Given the description of an element on the screen output the (x, y) to click on. 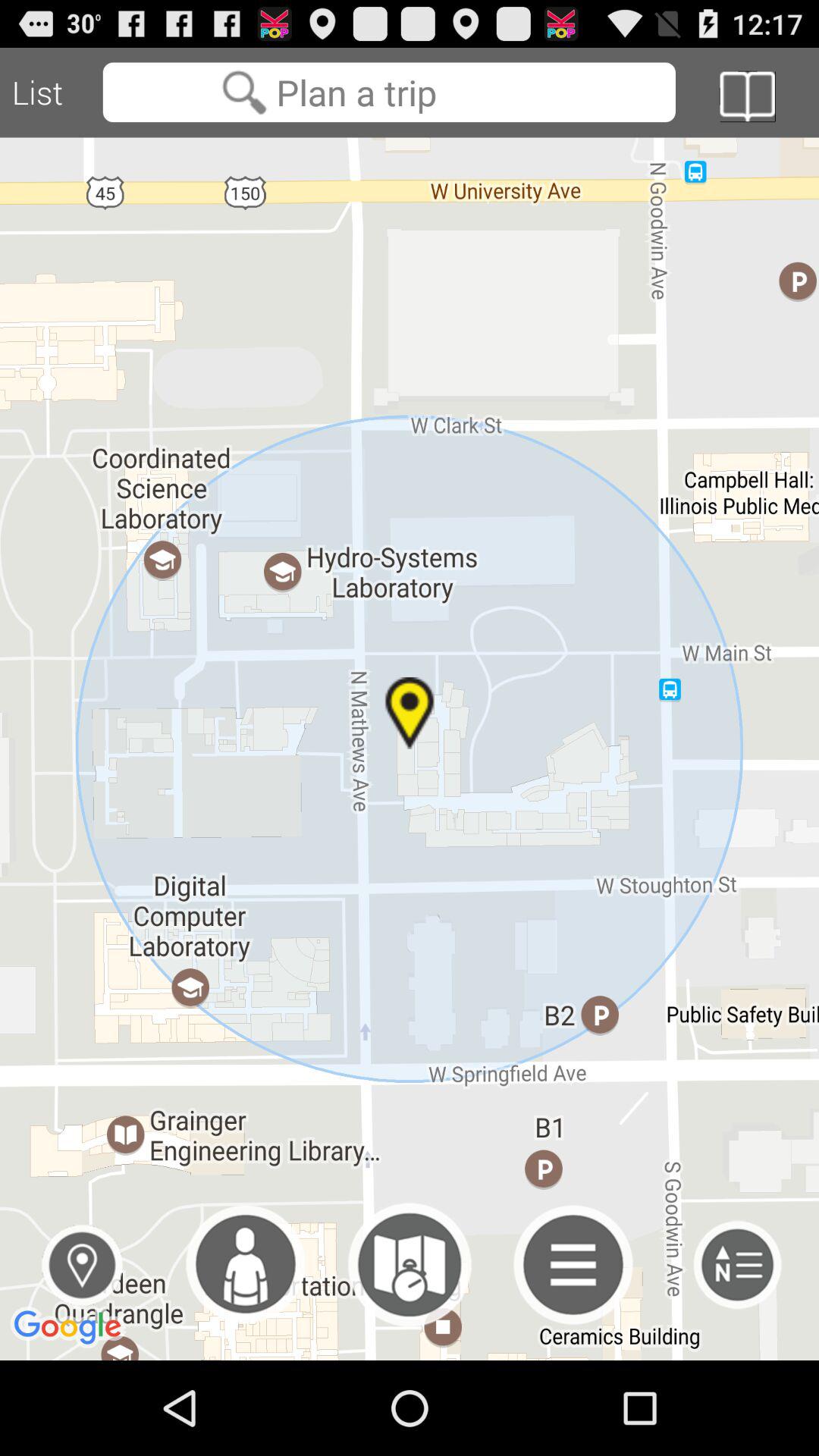
launch the item at the top right corner (747, 96)
